Given the description of an element on the screen output the (x, y) to click on. 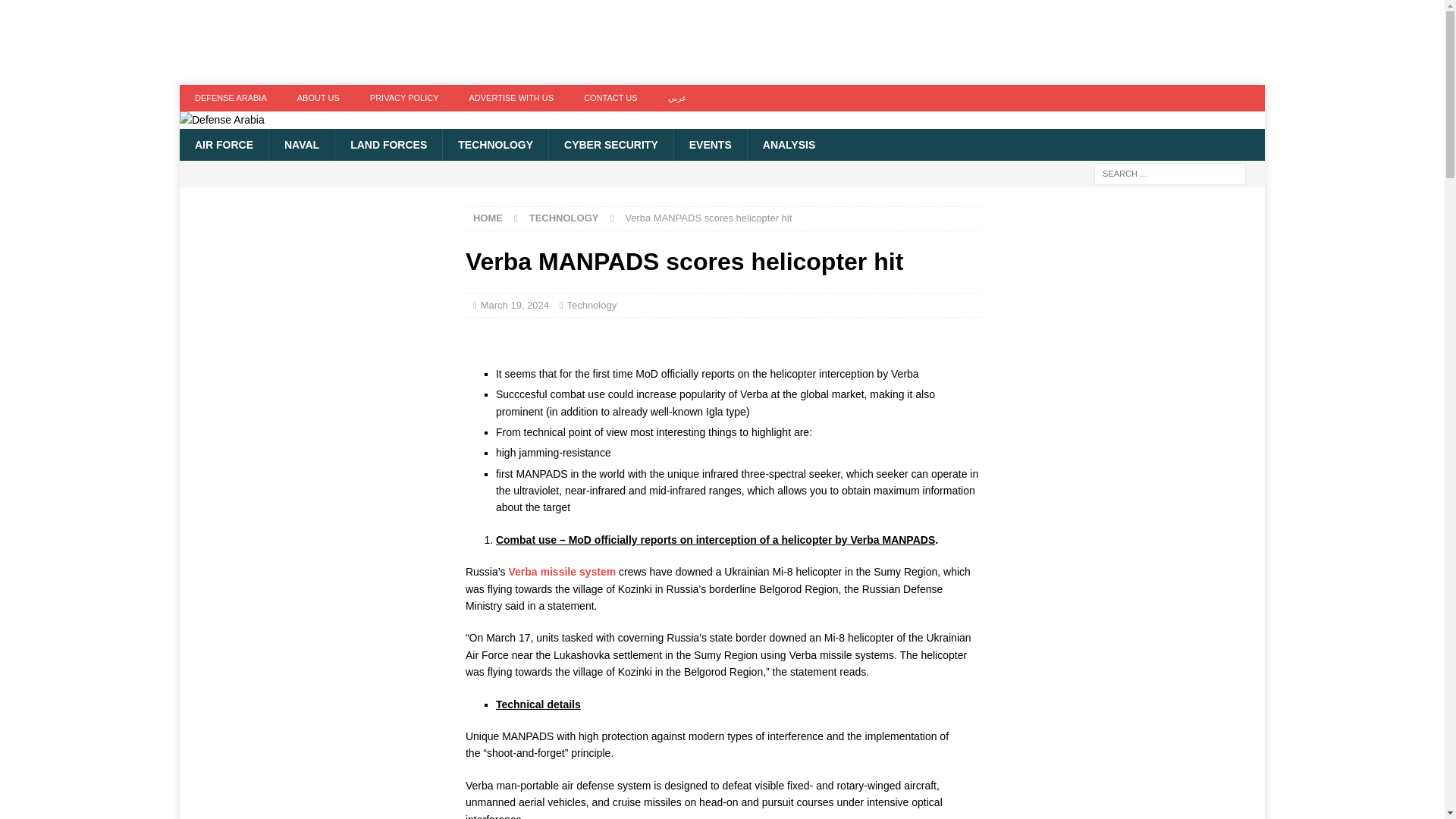
CYBER SECURITY (610, 144)
HOME (487, 217)
March 19, 2024 (514, 305)
ADVERTISE WITH US (510, 98)
Verba missile system (561, 571)
ANALYSIS (788, 144)
NAVAL (300, 144)
LAND FORCES (388, 144)
EVENTS (709, 144)
DEFENSE ARABIA (230, 98)
Search (56, 11)
Technology (590, 305)
TECHNOLOGY (563, 217)
TECHNOLOGY (495, 144)
PRIVACY POLICY (404, 98)
